Given the description of an element on the screen output the (x, y) to click on. 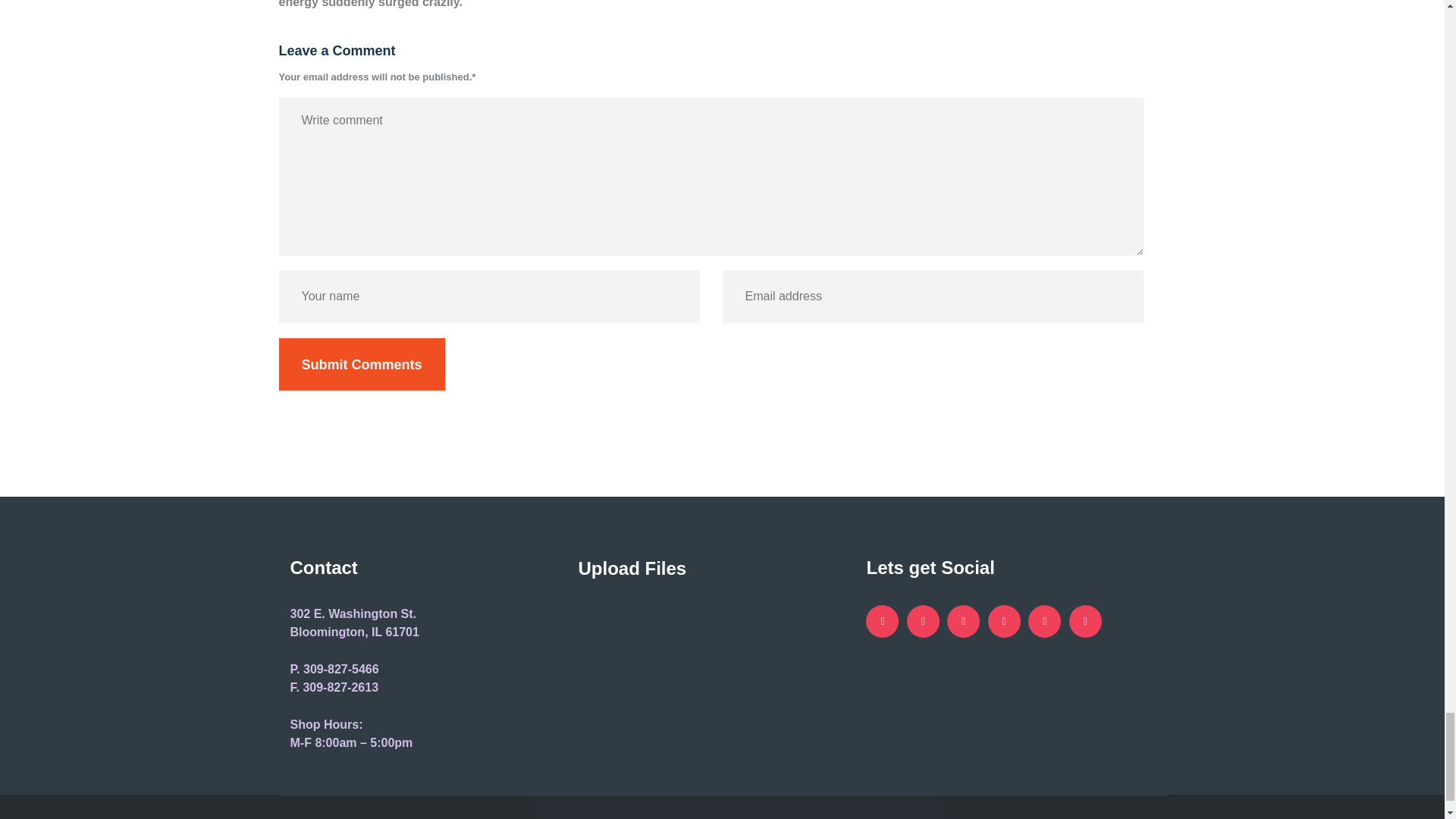
Submit Comments (362, 364)
